Given the description of an element on the screen output the (x, y) to click on. 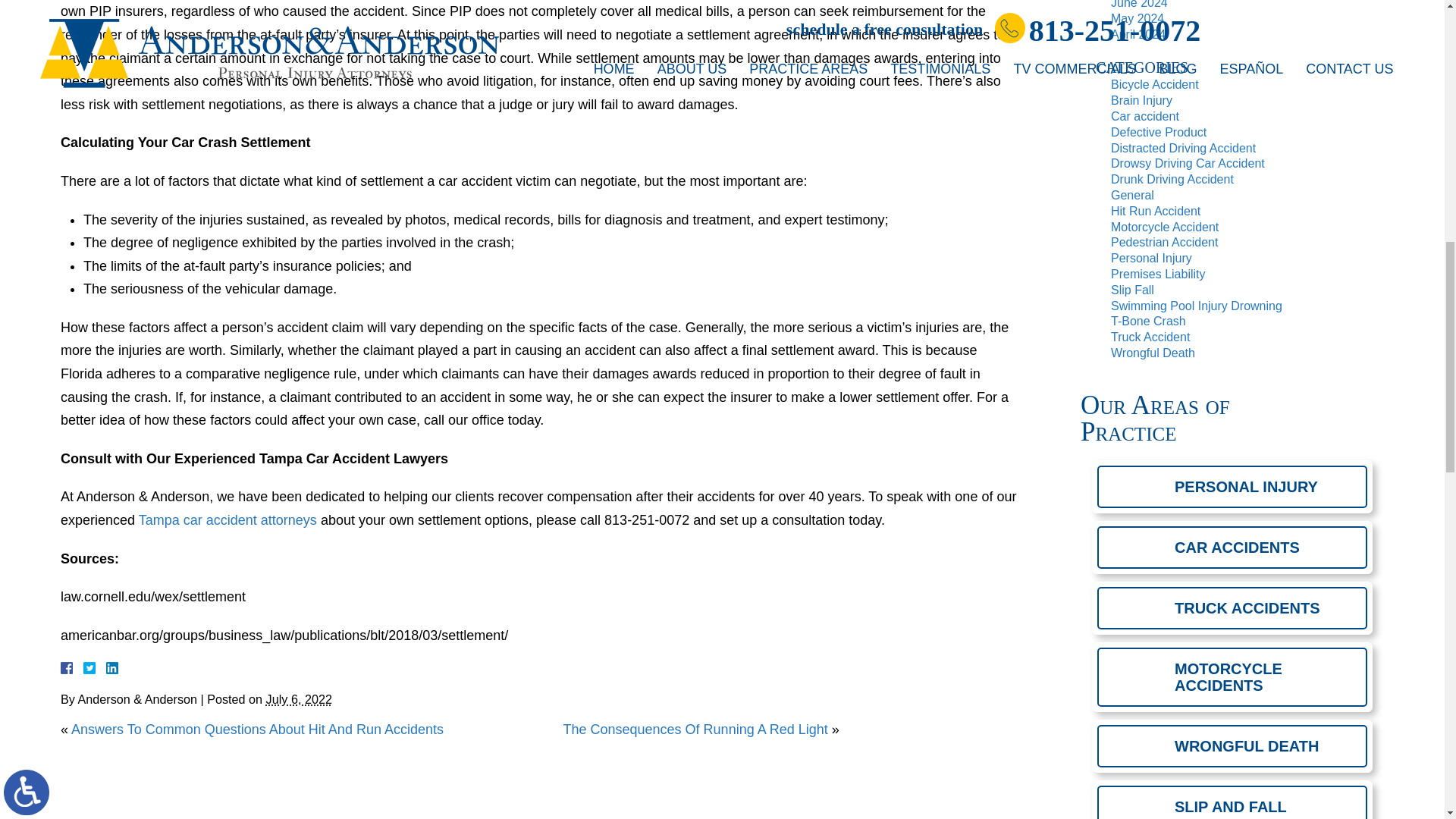
Twitter (95, 667)
LinkedIn (106, 667)
2022-07-06T13:58:00-0700 (298, 698)
Facebook (85, 667)
